Given the description of an element on the screen output the (x, y) to click on. 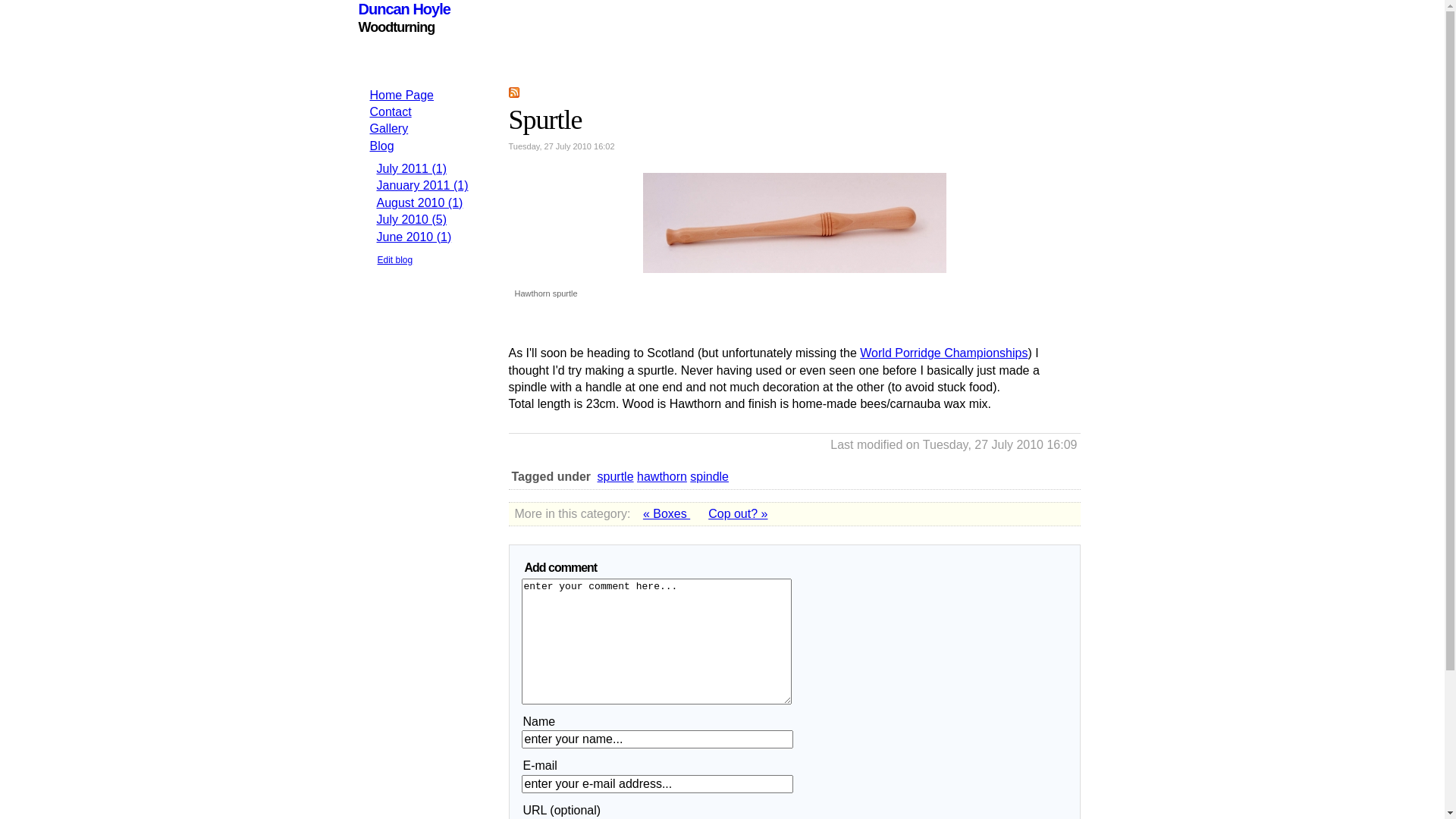
Home Page Element type: text (402, 93)
Gallery Element type: text (389, 128)
spindle Element type: text (709, 476)
Duncan Hoyle Element type: text (403, 8)
Blog Element type: text (382, 145)
July 2011 (1) Element type: text (411, 168)
Click to preview image Element type: hover (794, 274)
Subscribe to this RSS feed Element type: hover (513, 91)
World Porridge Championships Element type: text (943, 352)
spurtle Element type: text (615, 476)
August 2010 (1) Element type: text (419, 202)
January 2011 (1) Element type: text (421, 184)
July 2010 (5) Element type: text (411, 219)
Contact Element type: text (390, 111)
June 2010 (1) Element type: text (413, 236)
Edit blog Element type: text (395, 259)
hawthorn Element type: text (662, 476)
